Given the description of an element on the screen output the (x, y) to click on. 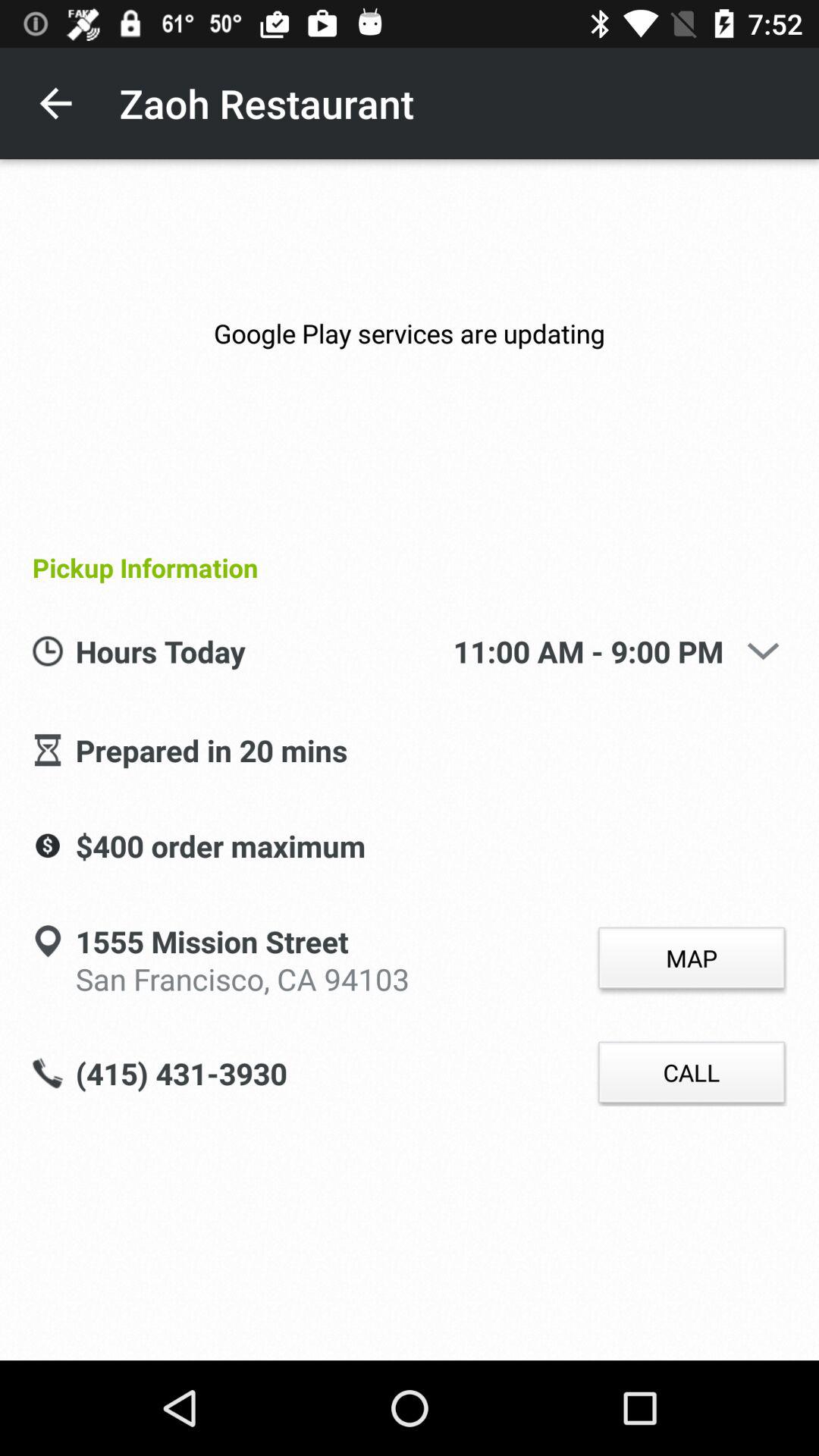
launch the (415) 431-3930 icon (181, 1074)
